Given the description of an element on the screen output the (x, y) to click on. 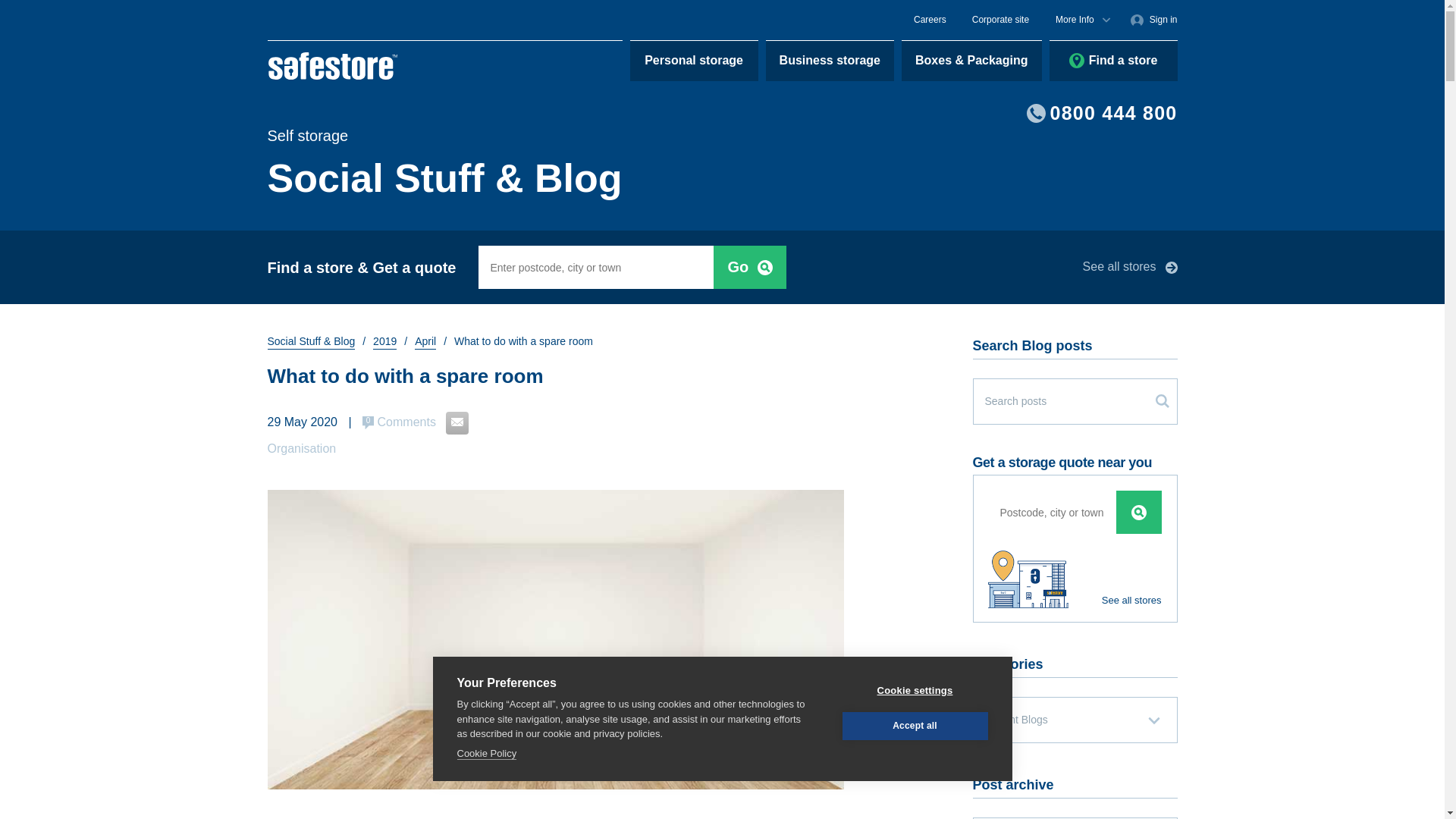
See all stores (1074, 548)
Cookie settings (914, 759)
Recent Blogs (1074, 719)
Self Storage Units at Safestore (331, 65)
0 Comments (398, 421)
0800 444 800 (1101, 113)
See all stores (1130, 267)
Business storage (829, 60)
Sign in (1153, 19)
Personal storage (694, 60)
